Given the description of an element on the screen output the (x, y) to click on. 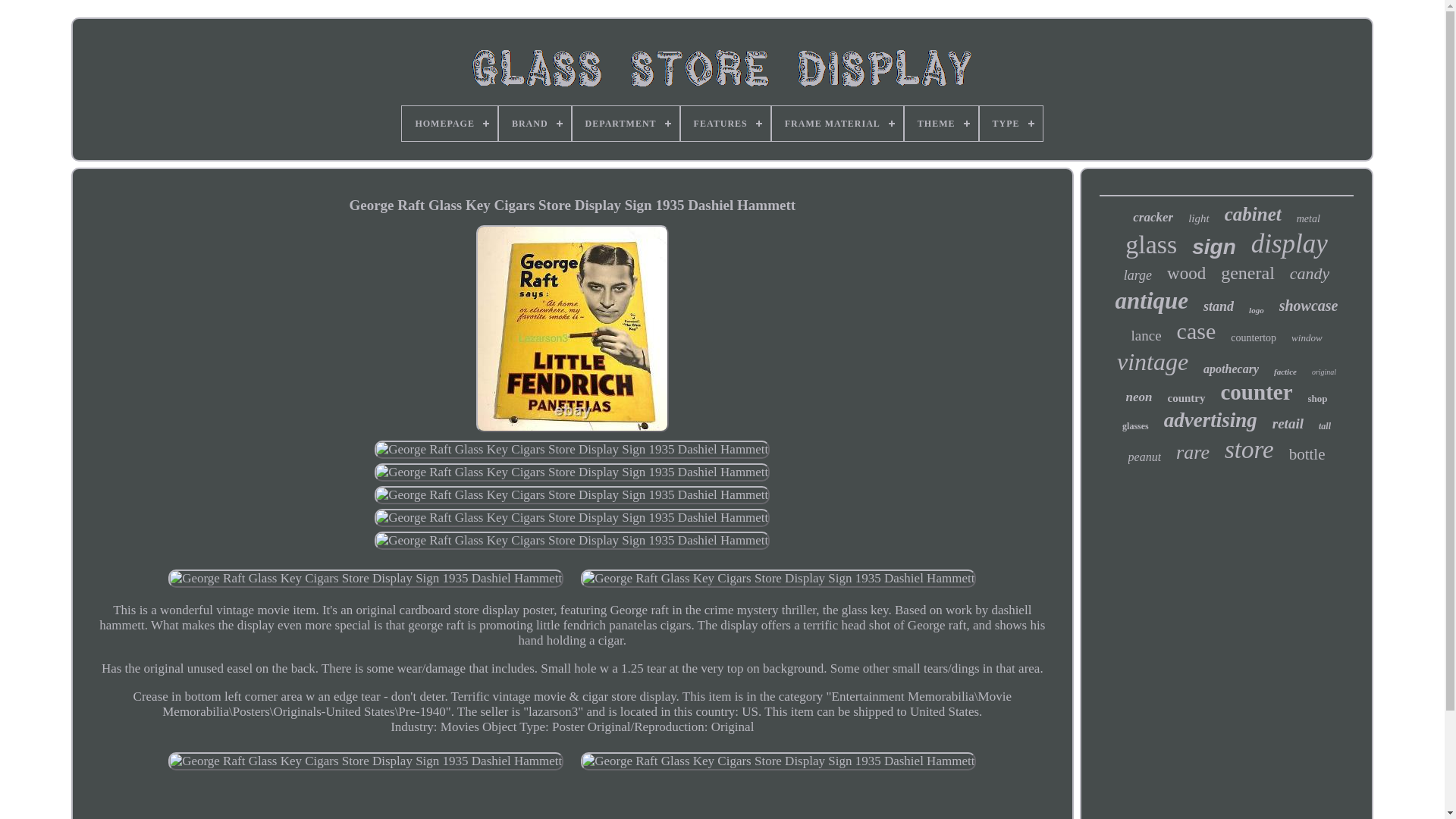
HOMEPAGE (448, 123)
DEPARTMENT (625, 123)
BRAND (534, 123)
